Given the description of an element on the screen output the (x, y) to click on. 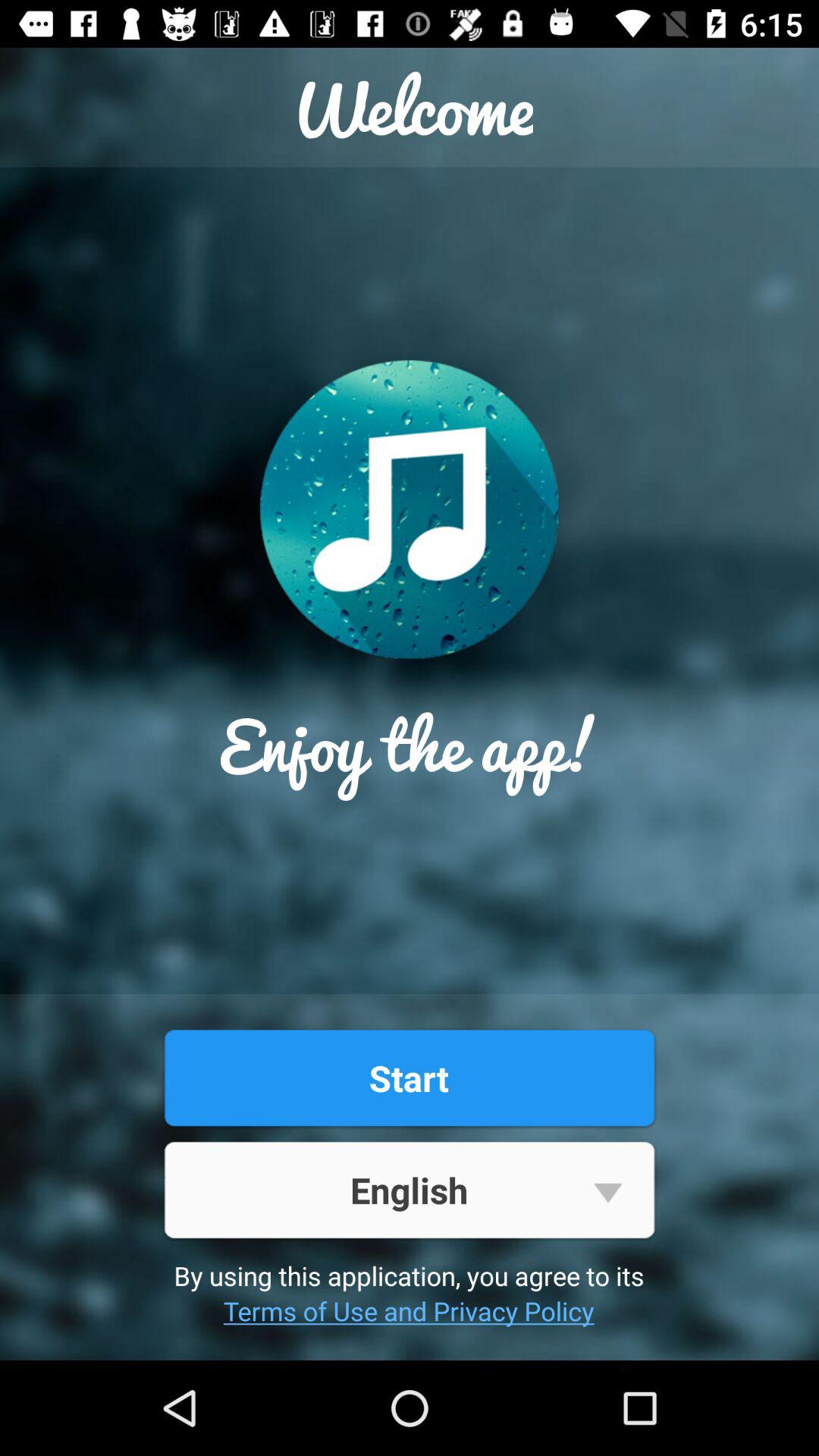
open the button above the english icon (409, 1078)
